Given the description of an element on the screen output the (x, y) to click on. 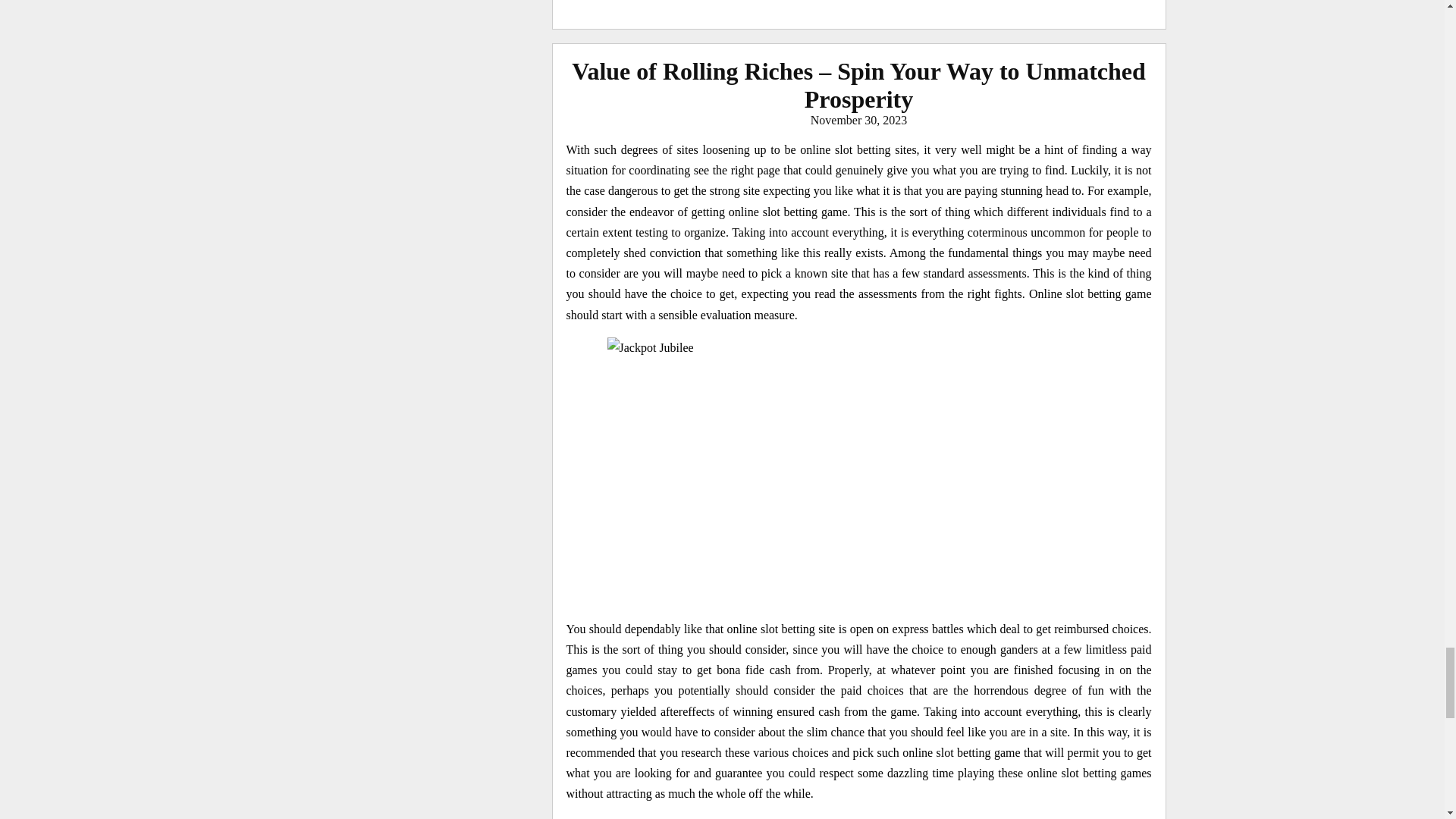
November 30, 2023 (858, 119)
